Given the description of an element on the screen output the (x, y) to click on. 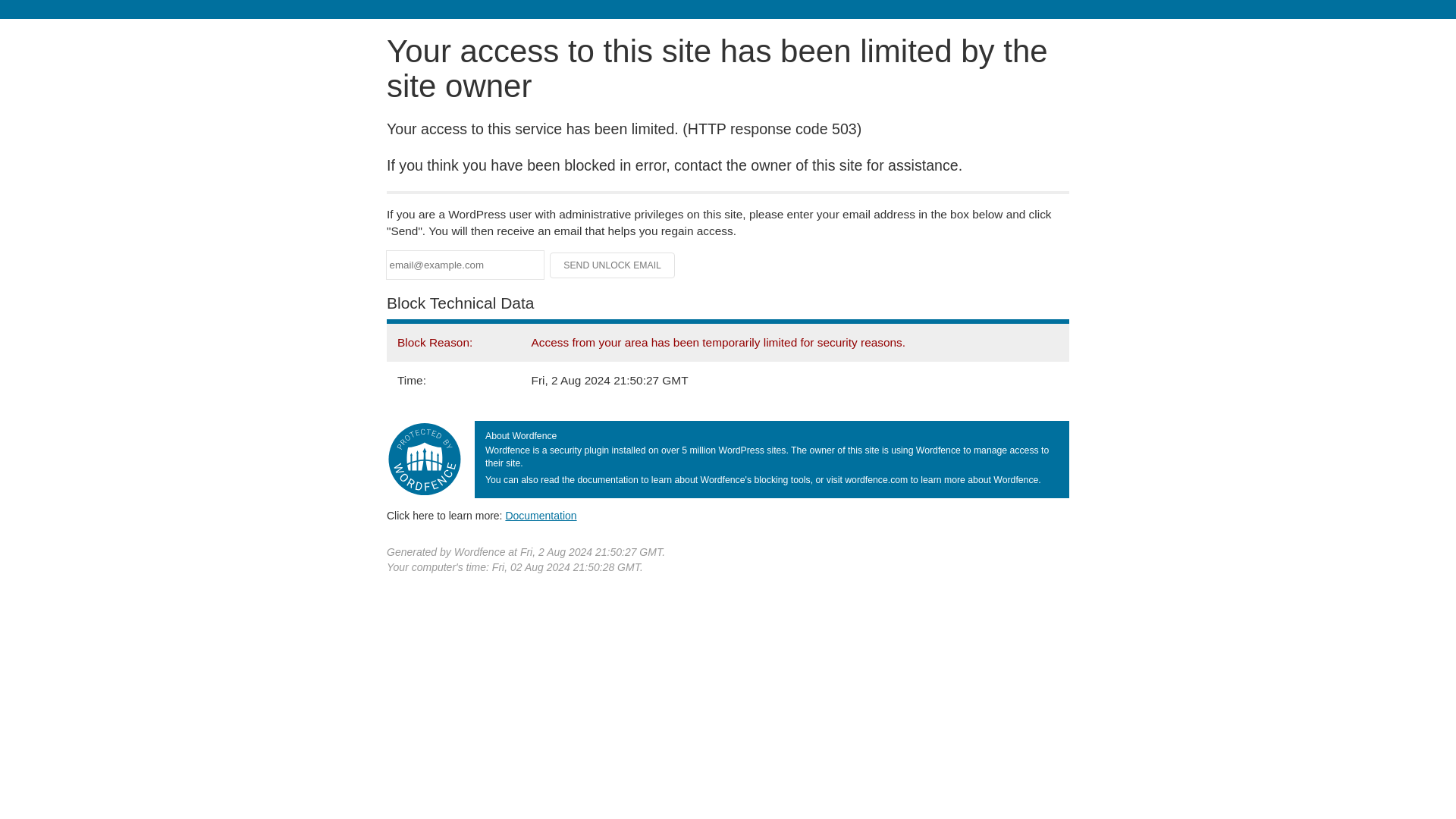
Send Unlock Email (612, 265)
Send Unlock Email (612, 265)
Documentation (540, 515)
